Given the description of an element on the screen output the (x, y) to click on. 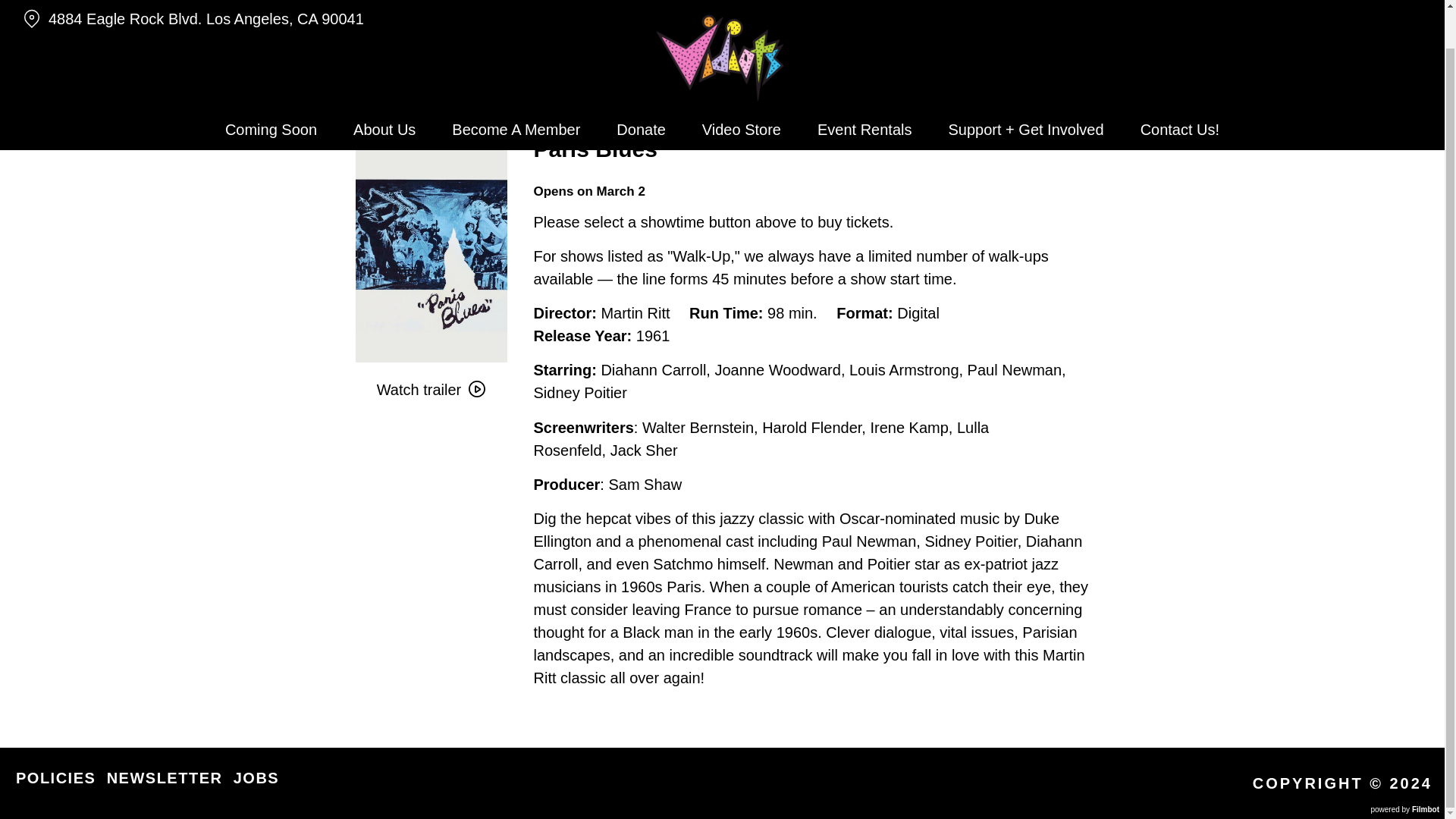
Become A Member (515, 88)
Contact Us! (1179, 88)
Event Rentals (864, 88)
About Us (384, 88)
Video Store (741, 88)
Coming Soon (270, 88)
POLICIES (56, 778)
Donate (641, 88)
Watch trailer (430, 389)
